Given the description of an element on the screen output the (x, y) to click on. 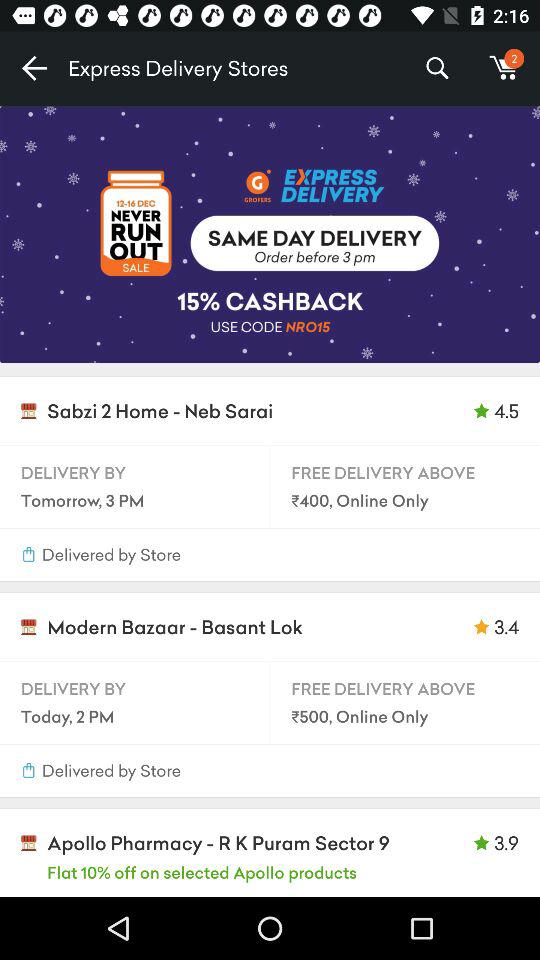
choose item next to express delivery stores item (33, 67)
